Given the description of an element on the screen output the (x, y) to click on. 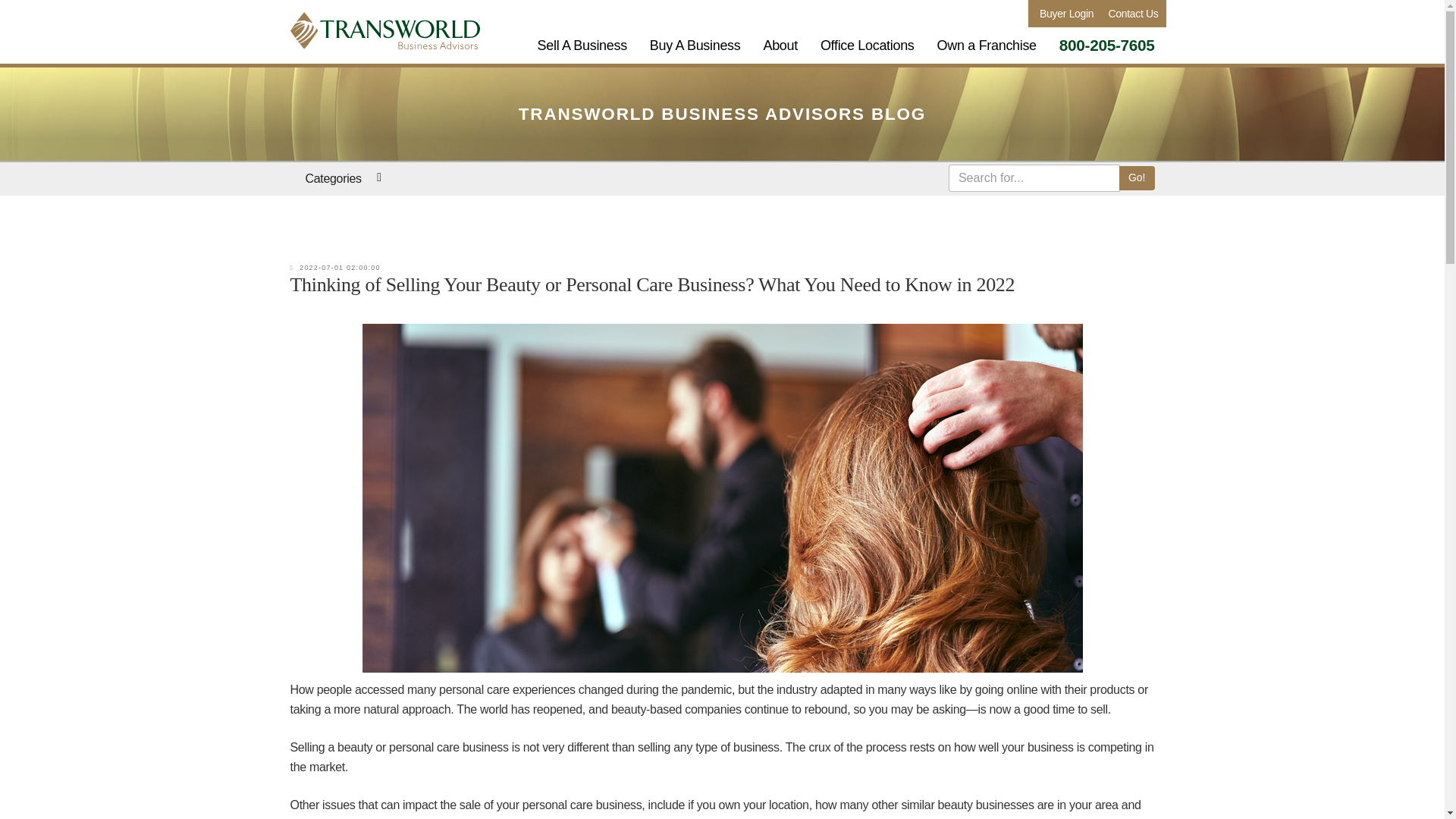
800-205-7605 (1106, 45)
Buyer Login (1064, 13)
Own a Franchise (986, 45)
Transworld Business Advisors (384, 29)
Sell A Business (582, 45)
Contact Us (1130, 13)
About (779, 45)
Buy A Business (695, 45)
Login (1064, 13)
Contact Us (1130, 13)
Office Locations (867, 45)
